Given the description of an element on the screen output the (x, y) to click on. 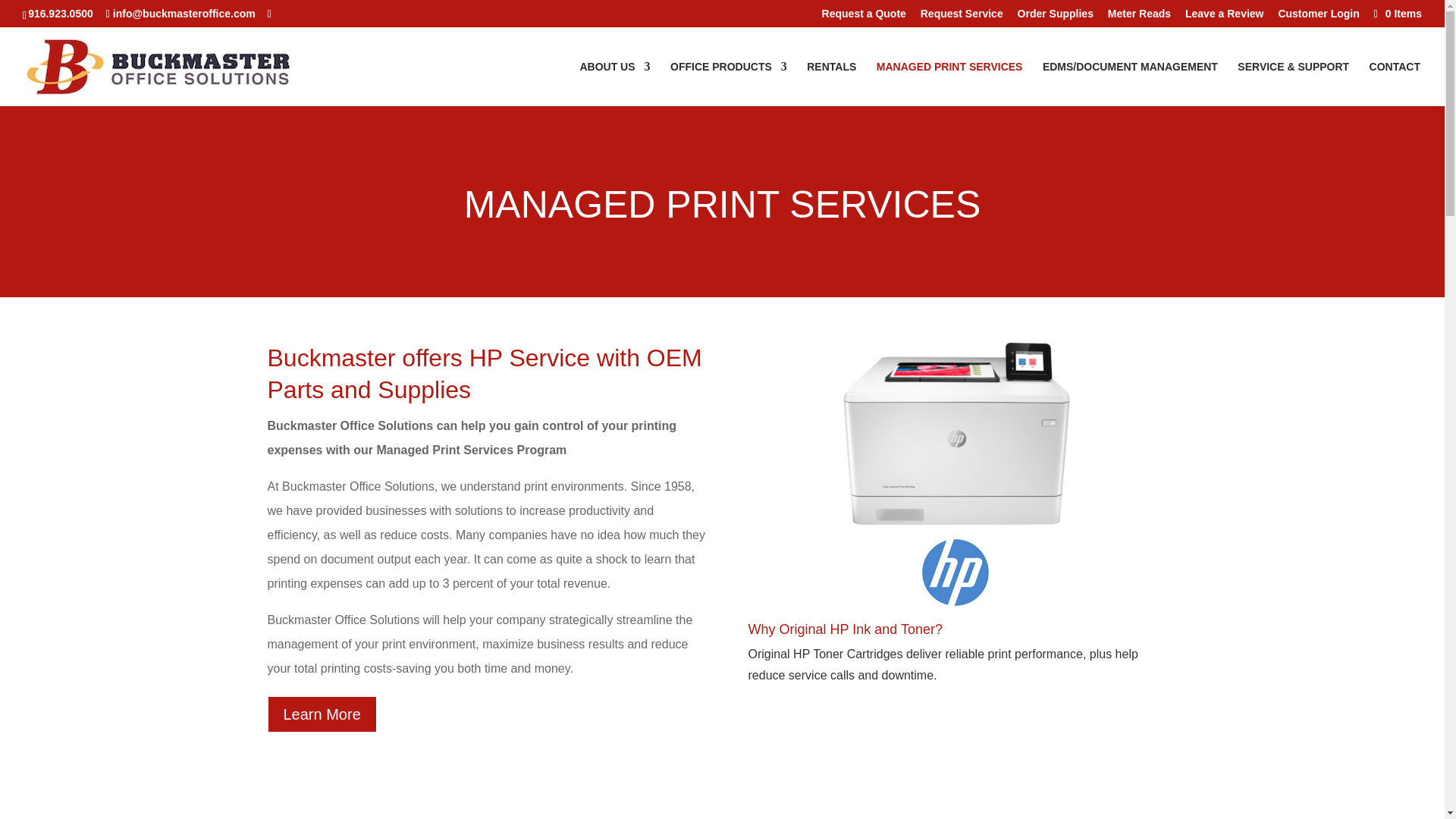
CONTACT (1395, 83)
Request a Quote (863, 16)
Meter Reads (1139, 16)
916.923.0500 (60, 13)
Request Service (961, 16)
Order Supplies (1055, 16)
RENTALS (831, 83)
Leave a Review (1224, 16)
OFFICE PRODUCTS (728, 83)
ABOUT US (614, 83)
Customer Login (1318, 16)
0 Items (1396, 13)
MANAGED PRINT SERVICES (949, 83)
